Given the description of an element on the screen output the (x, y) to click on. 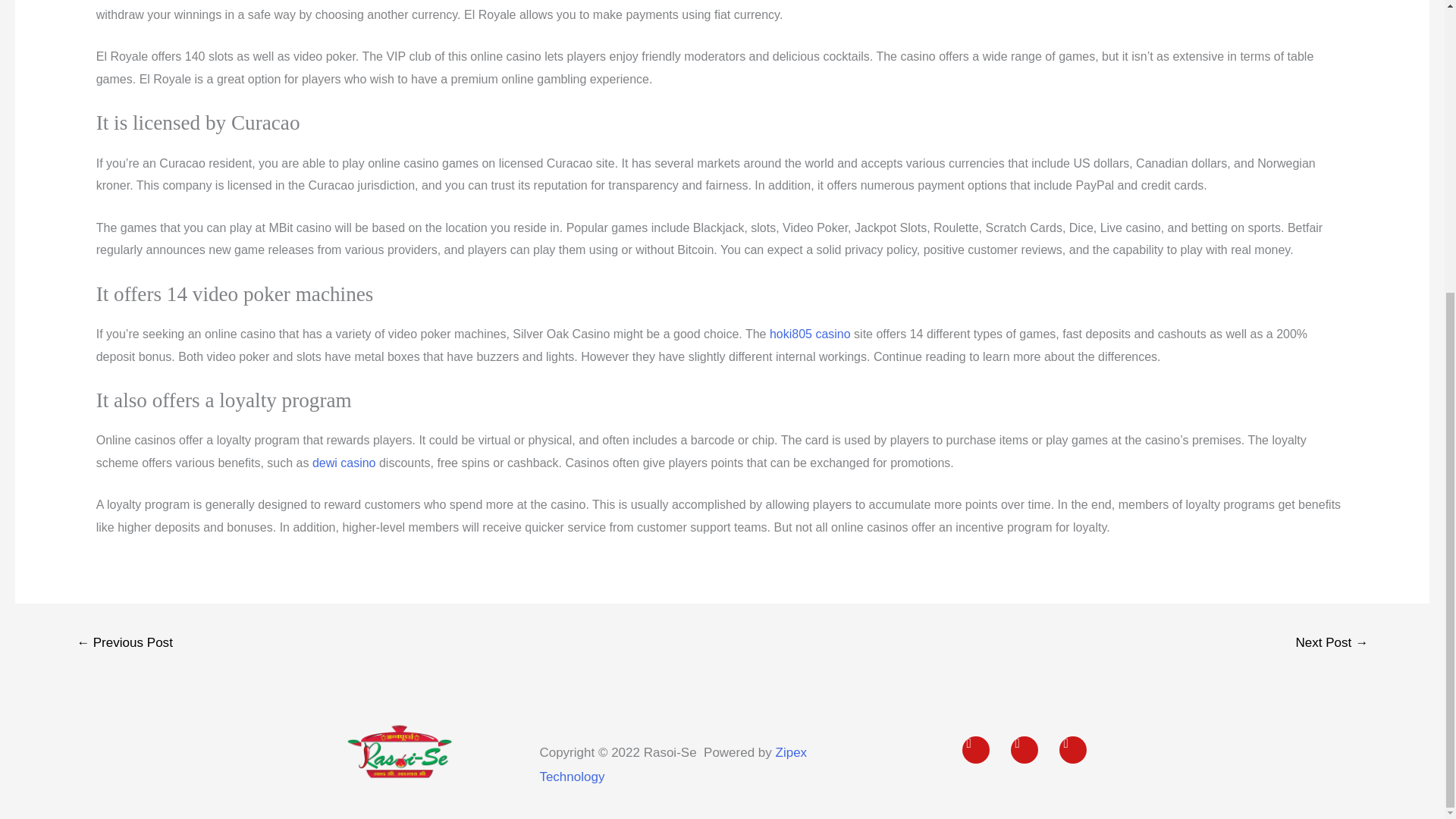
Zipex Technology (672, 764)
hoki805 casino (810, 333)
dewi casino (344, 462)
